Given the description of an element on the screen output the (x, y) to click on. 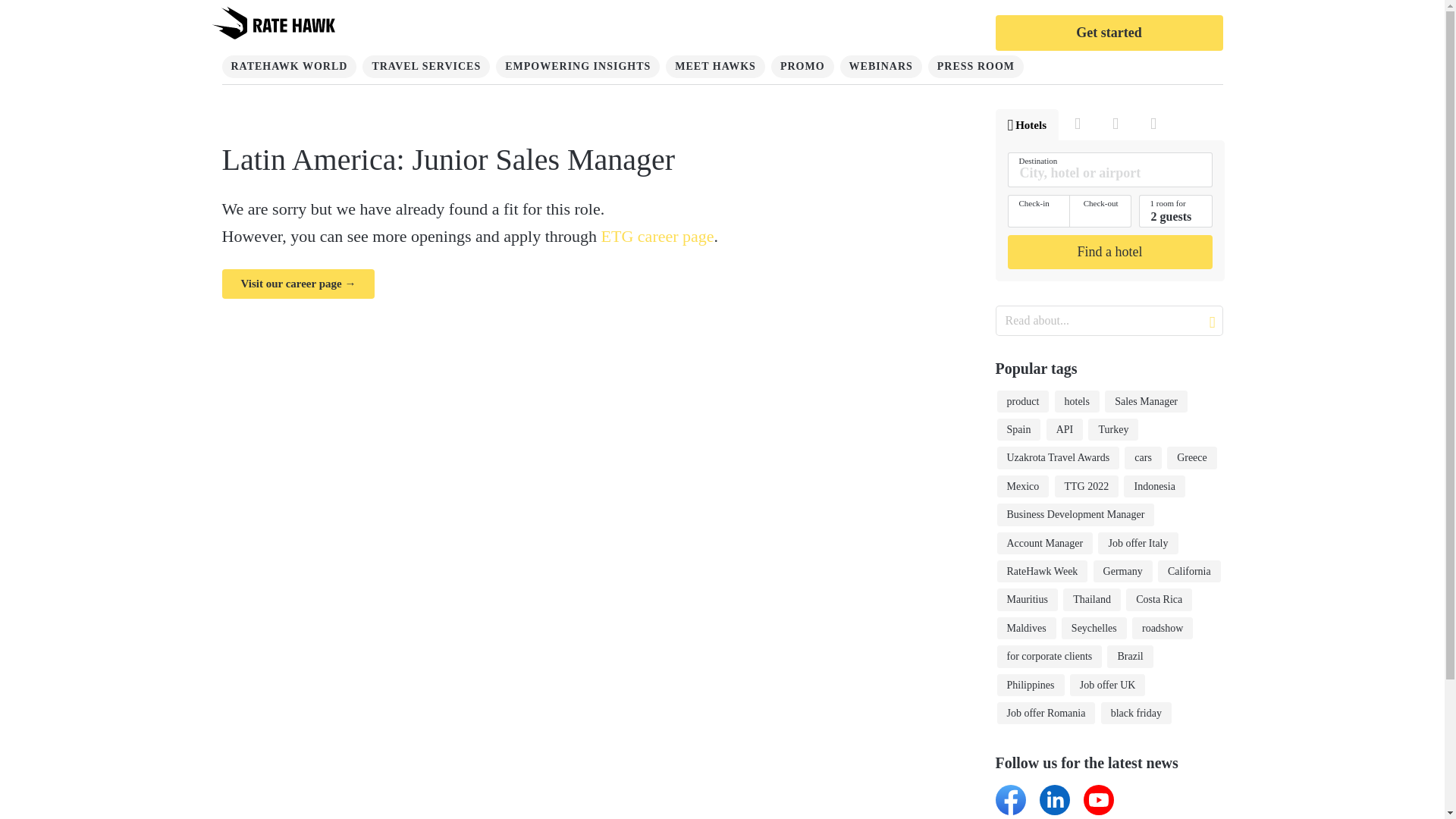
TTG 2022 (1086, 486)
Business Development Manager (1074, 514)
PROMO (802, 66)
Uzakrota Travel Awards (1057, 457)
hotels (1076, 401)
WEBINARS (880, 66)
MEET HAWKS (715, 66)
Get started (1108, 32)
Greece (1192, 457)
cars (1142, 457)
